Given the description of an element on the screen output the (x, y) to click on. 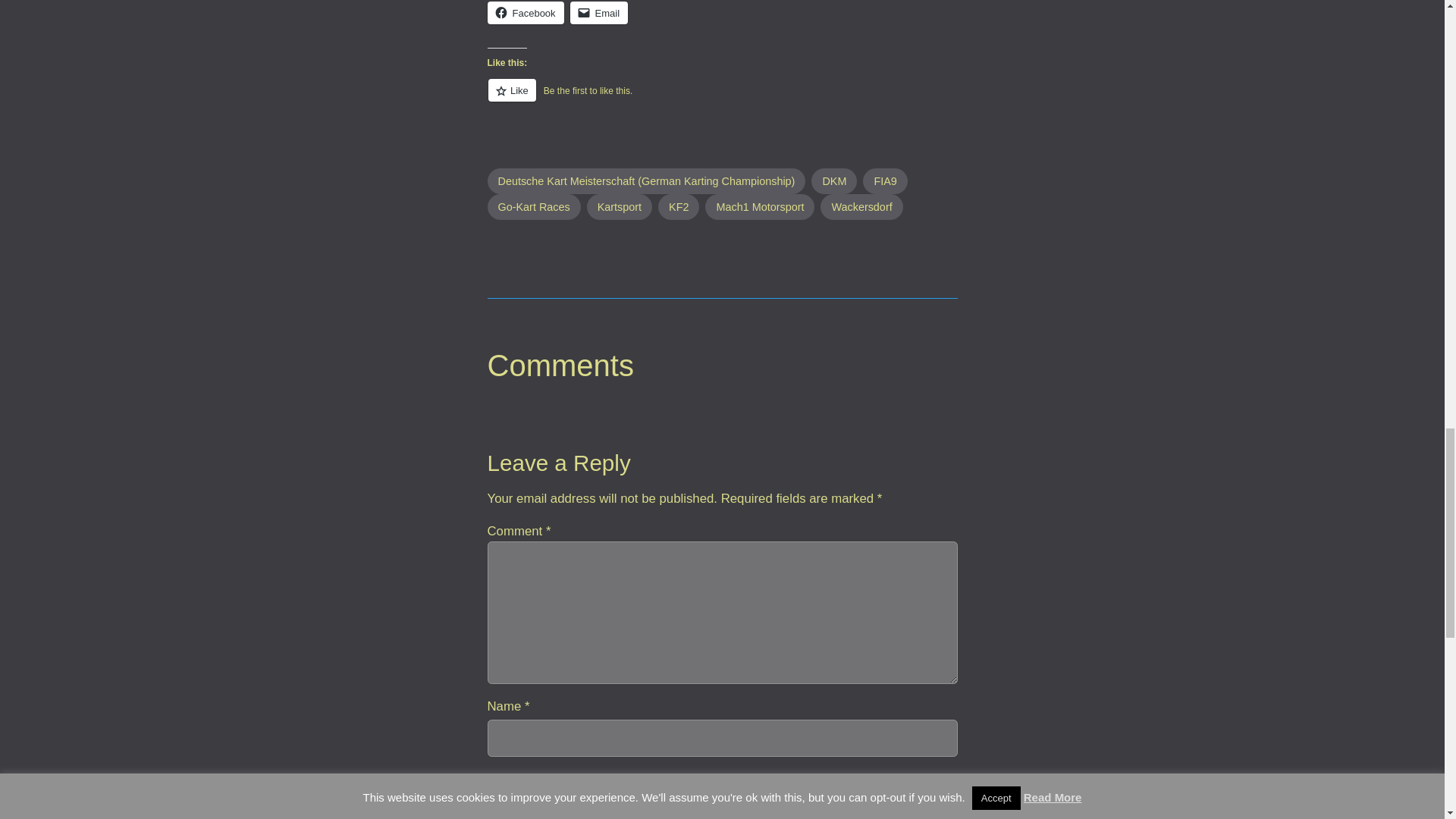
Facebook (524, 12)
DKM (833, 181)
Email (599, 12)
